Given the description of an element on the screen output the (x, y) to click on. 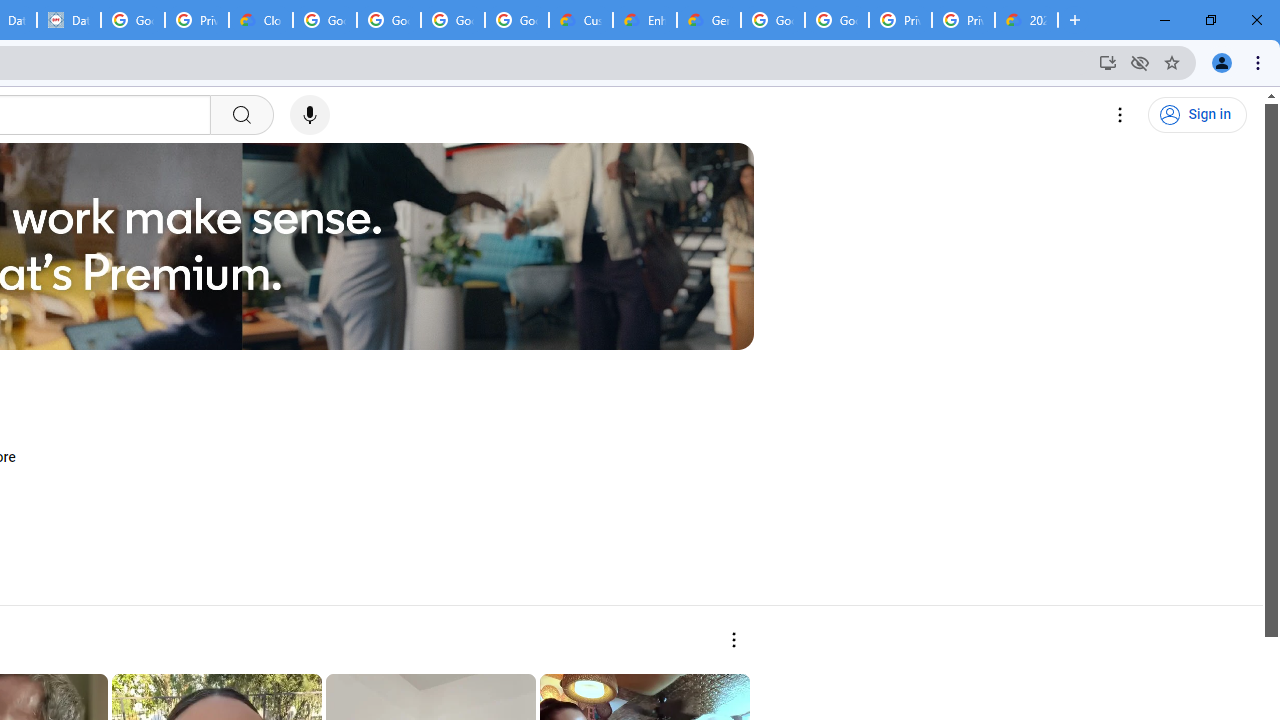
Data Privacy Framework (69, 20)
More actions (732, 639)
Google Workspace - Specific Terms (453, 20)
Google Workspace - Specific Terms (517, 20)
Gemini for Business and Developers | Google Cloud (709, 20)
Enhanced Support | Google Cloud (645, 20)
Search with your voice (309, 115)
Google Cloud Platform (837, 20)
Cloud Data Processing Addendum | Google Cloud (261, 20)
